Given the description of an element on the screen output the (x, y) to click on. 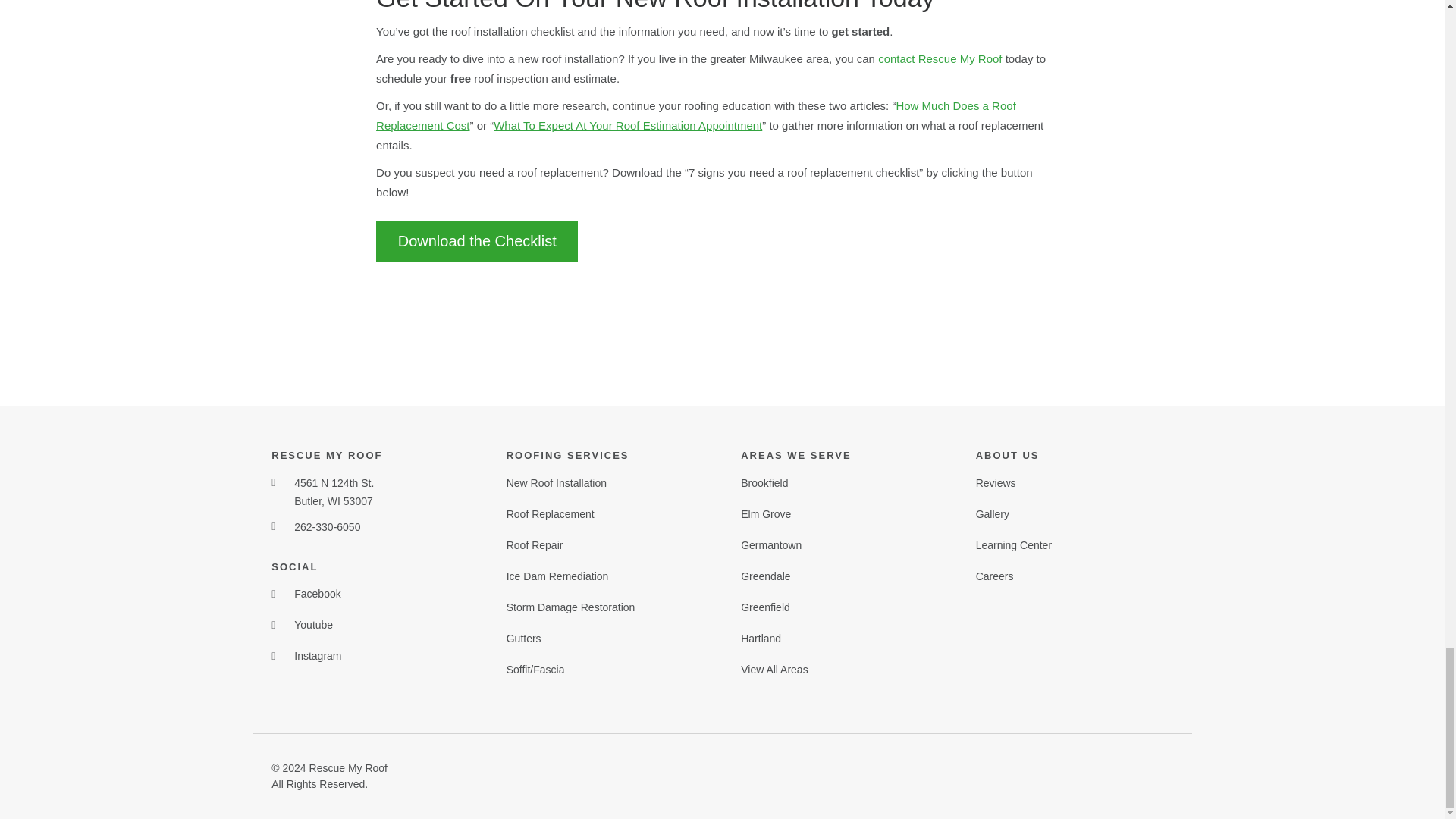
Like us on Facebook (305, 596)
Follow us on Instagram (305, 658)
Suscribe to our channel (301, 627)
